Given the description of an element on the screen output the (x, y) to click on. 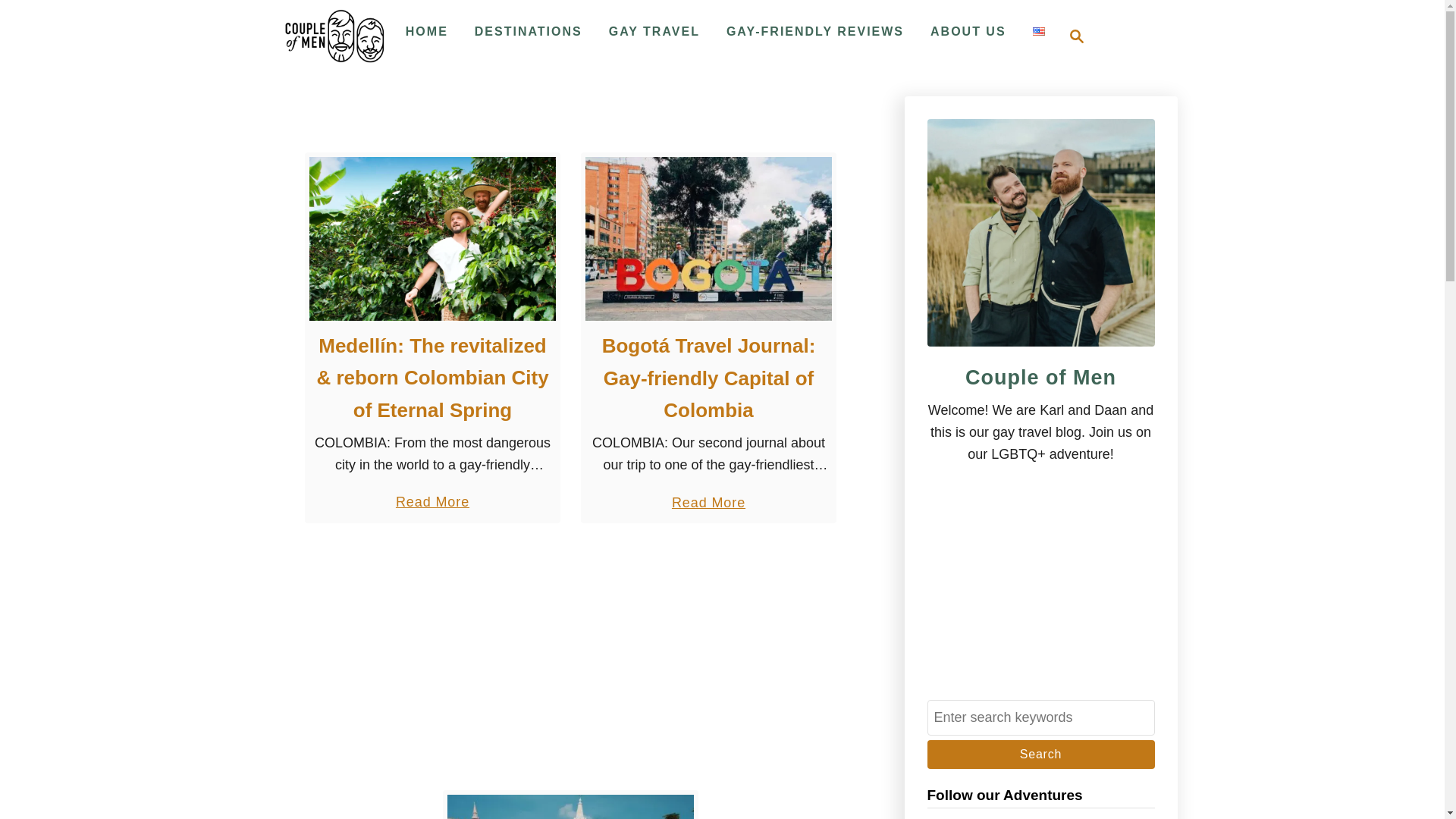
Magnifying Glass (1076, 36)
DESTINATIONS (528, 31)
Follow on Pinterest (1075, 816)
Follow on Facebook (1072, 36)
Follow on YouTube (970, 816)
Follow on X (1110, 816)
Gay Travel Blog - Couple of Men (1005, 816)
Follow on Instagram (333, 35)
Gay Cartagena Travel Journal: Caribbean Flair in Colombia (1040, 816)
